Given the description of an element on the screen output the (x, y) to click on. 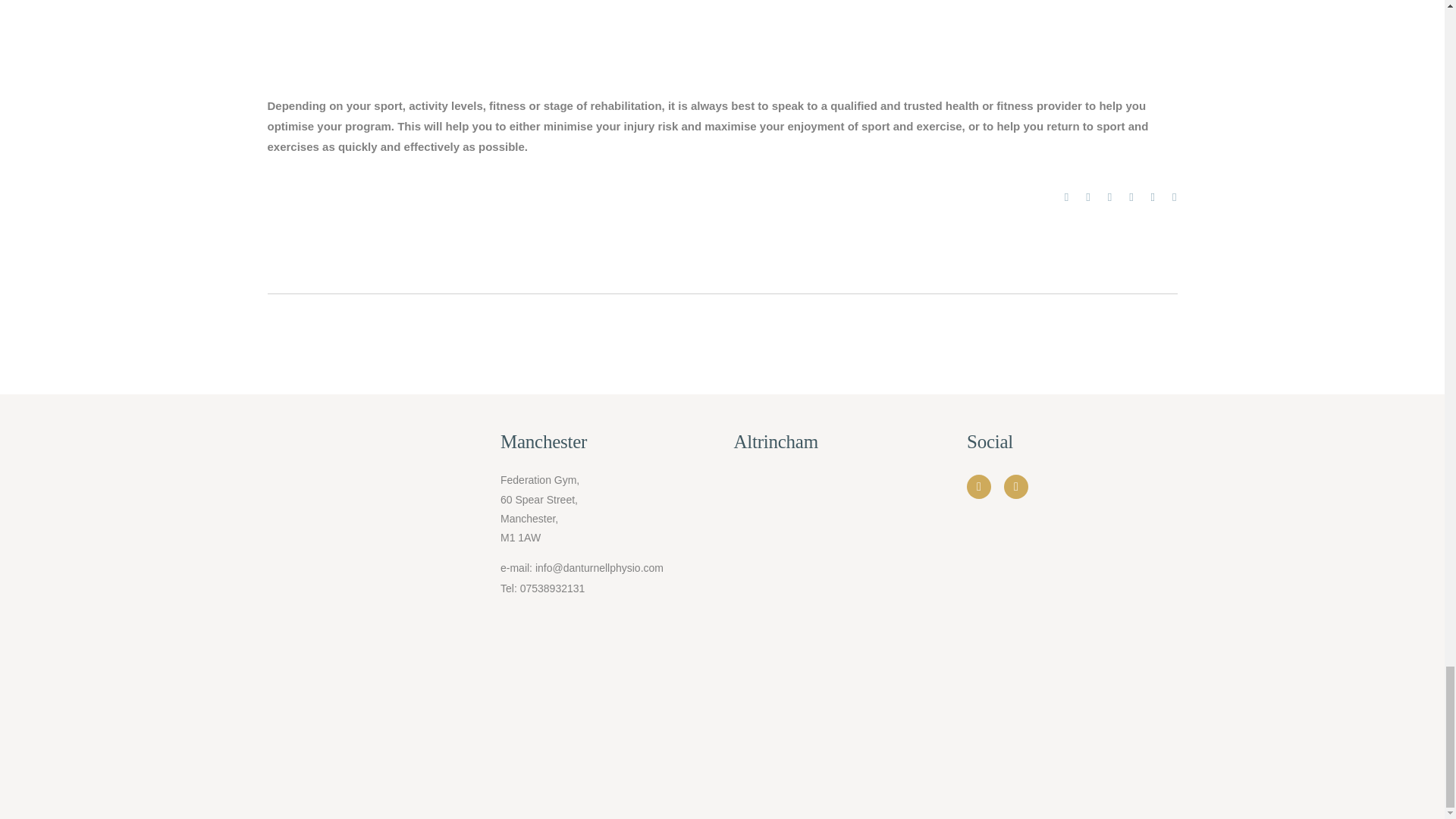
07538932131 (552, 588)
